Given the description of an element on the screen output the (x, y) to click on. 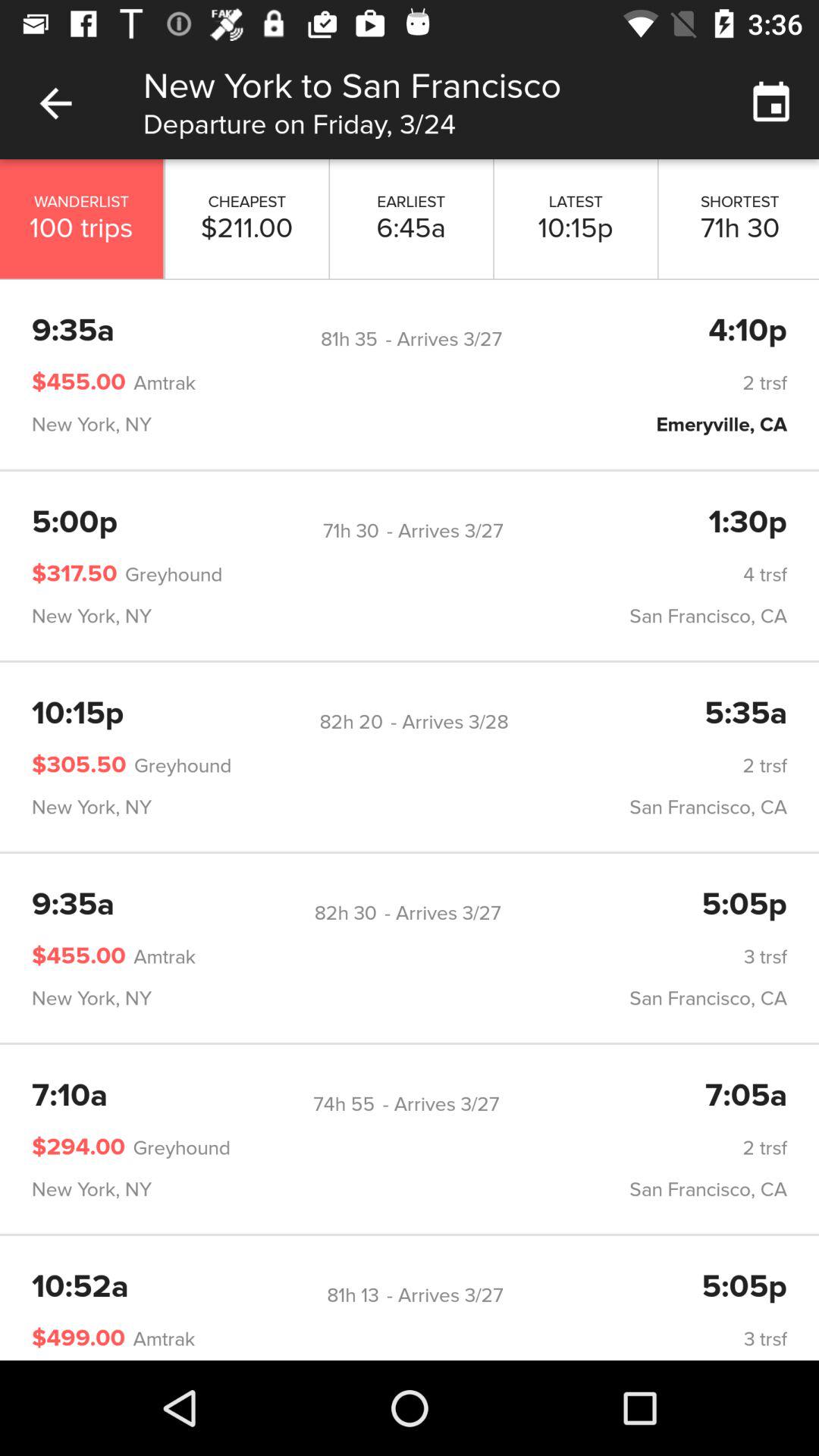
turn on the item above the 2 trsf item (747, 331)
